Given the description of an element on the screen output the (x, y) to click on. 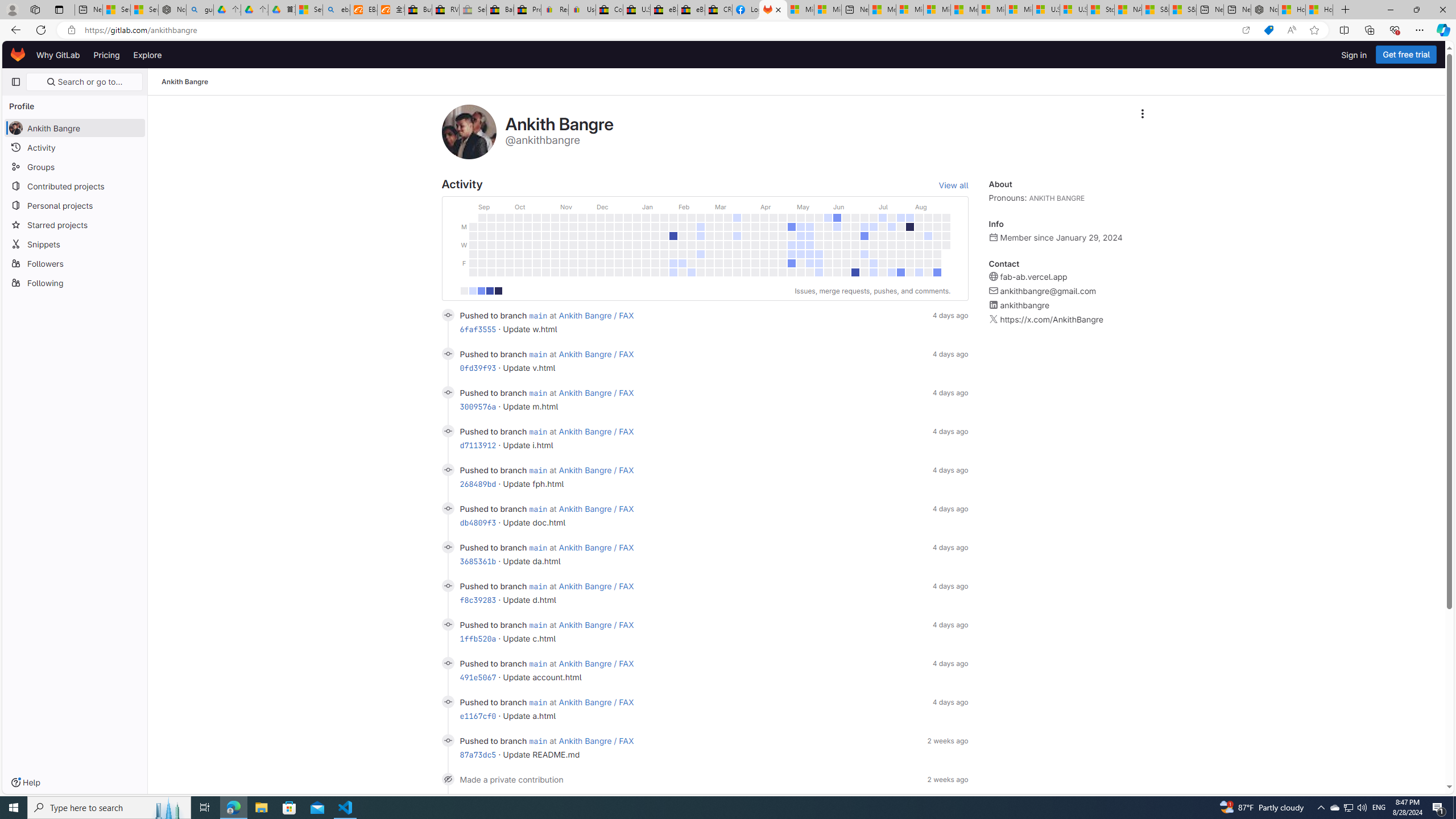
Explore (146, 54)
Consumer Health Data Privacy Policy - eBay Inc. (609, 9)
3009576a (478, 406)
